Given the description of an element on the screen output the (x, y) to click on. 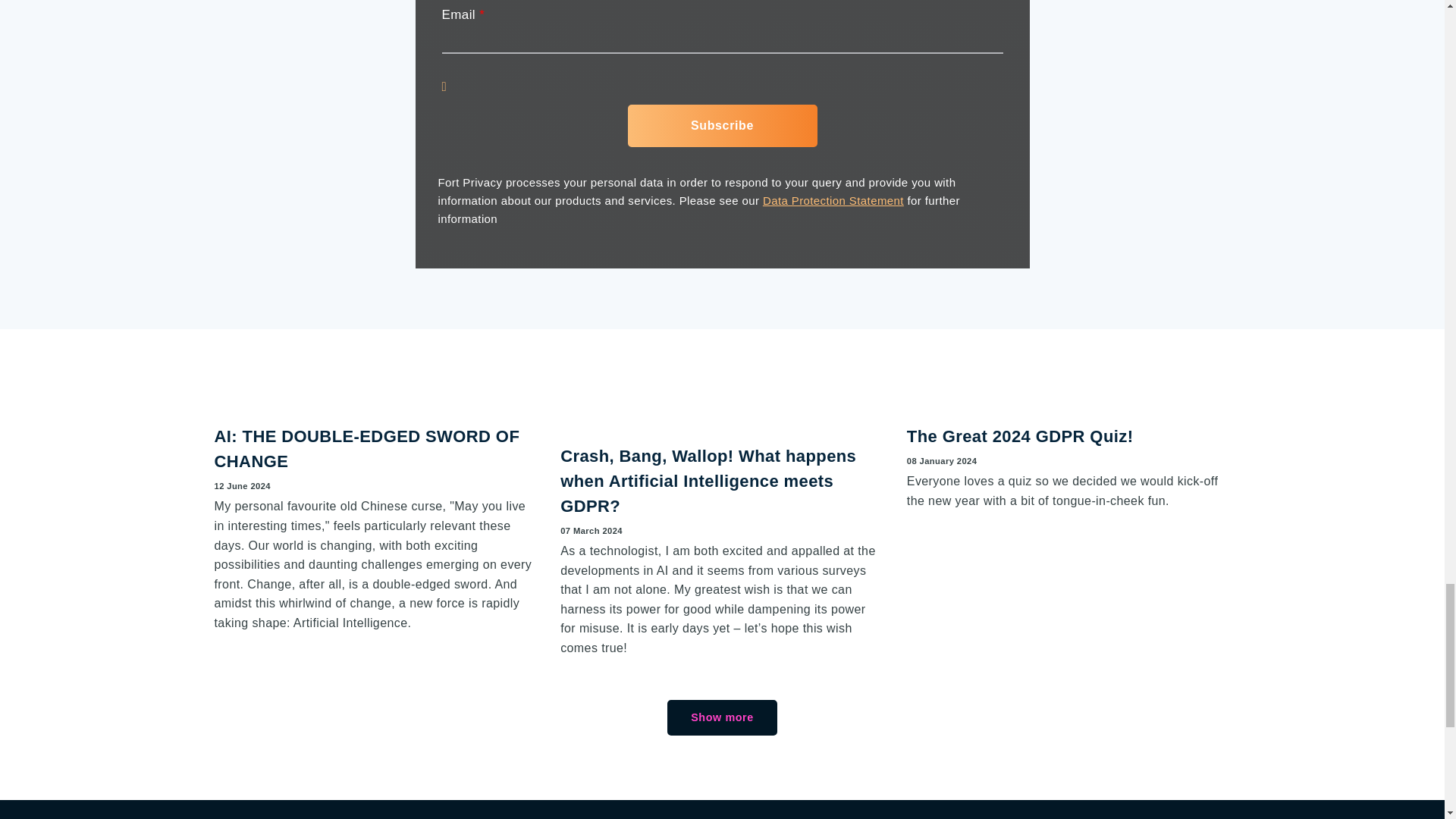
Data Protection Statement (833, 200)
Subscribe (721, 125)
The Great 2024 GDPR Quiz! (1020, 435)
AI: THE DOUBLE-EDGED SWORD OF CHANGE (376, 399)
AI: THE DOUBLE-EDGED SWORD OF CHANGE (366, 448)
Show more (721, 717)
The Great 2024 GDPR Quiz! (1068, 399)
AI: THE DOUBLE-EDGED SWORD OF CHANGE (366, 448)
The Great 2024 GDPR Quiz! (1020, 435)
